Given the description of an element on the screen output the (x, y) to click on. 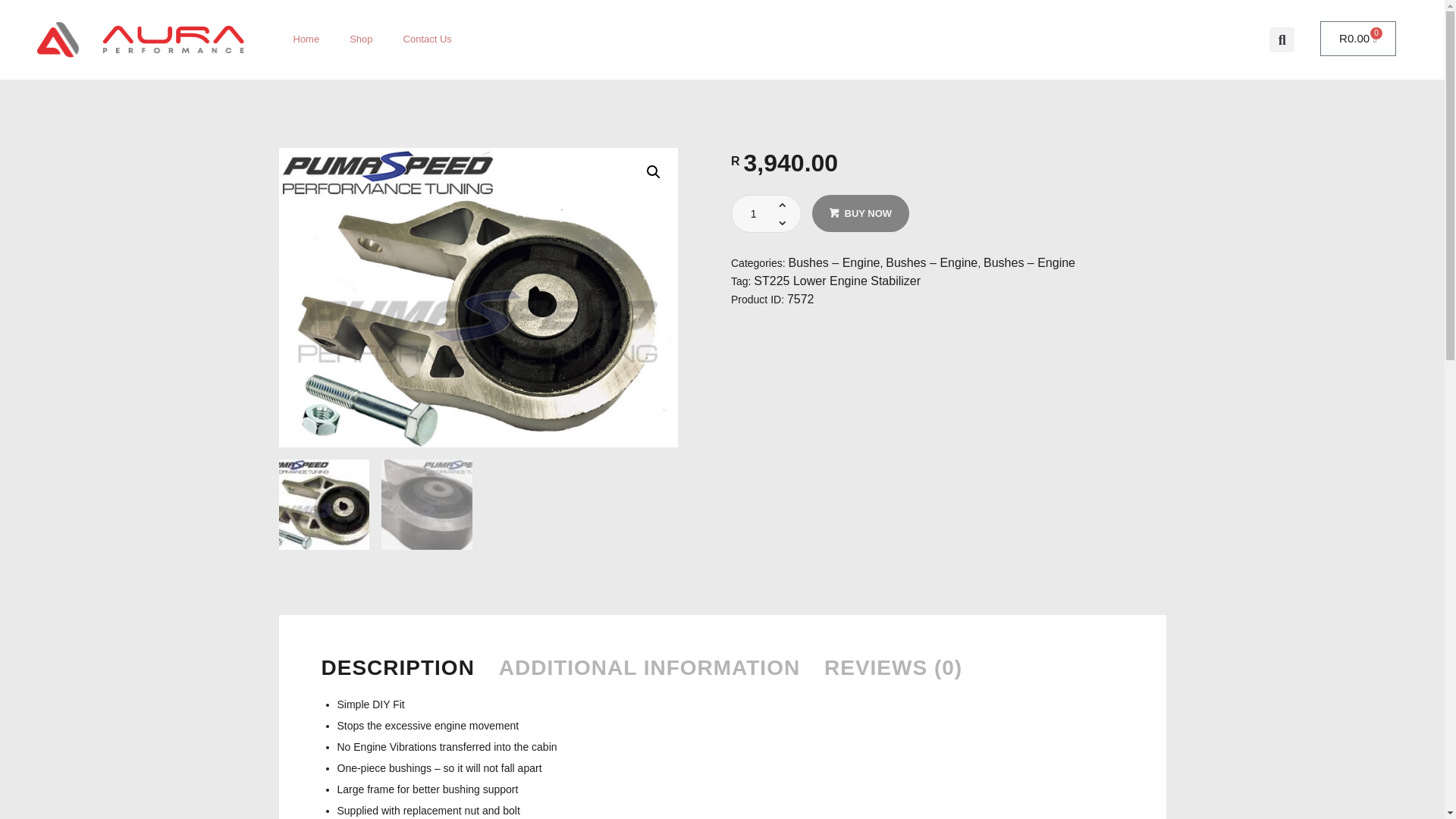
ADDITIONAL INFORMATION (654, 675)
ST225 Lower Engine Stabilizer (837, 280)
Shop (360, 39)
Contact Us (1358, 38)
DESCRIPTION (427, 39)
1 (402, 675)
BUY NOW (772, 213)
Home (860, 212)
